Given the description of an element on the screen output the (x, y) to click on. 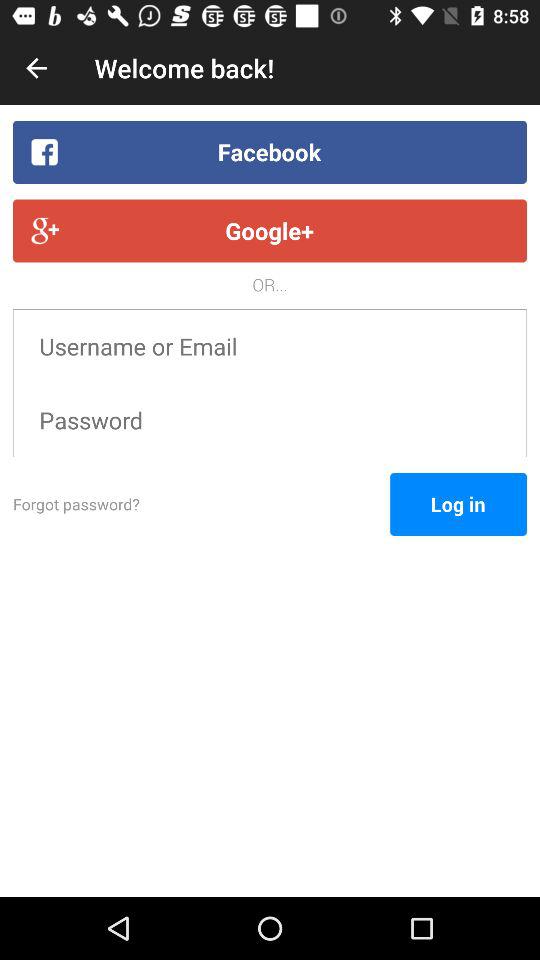
open the item above google+ (269, 151)
